Given the description of an element on the screen output the (x, y) to click on. 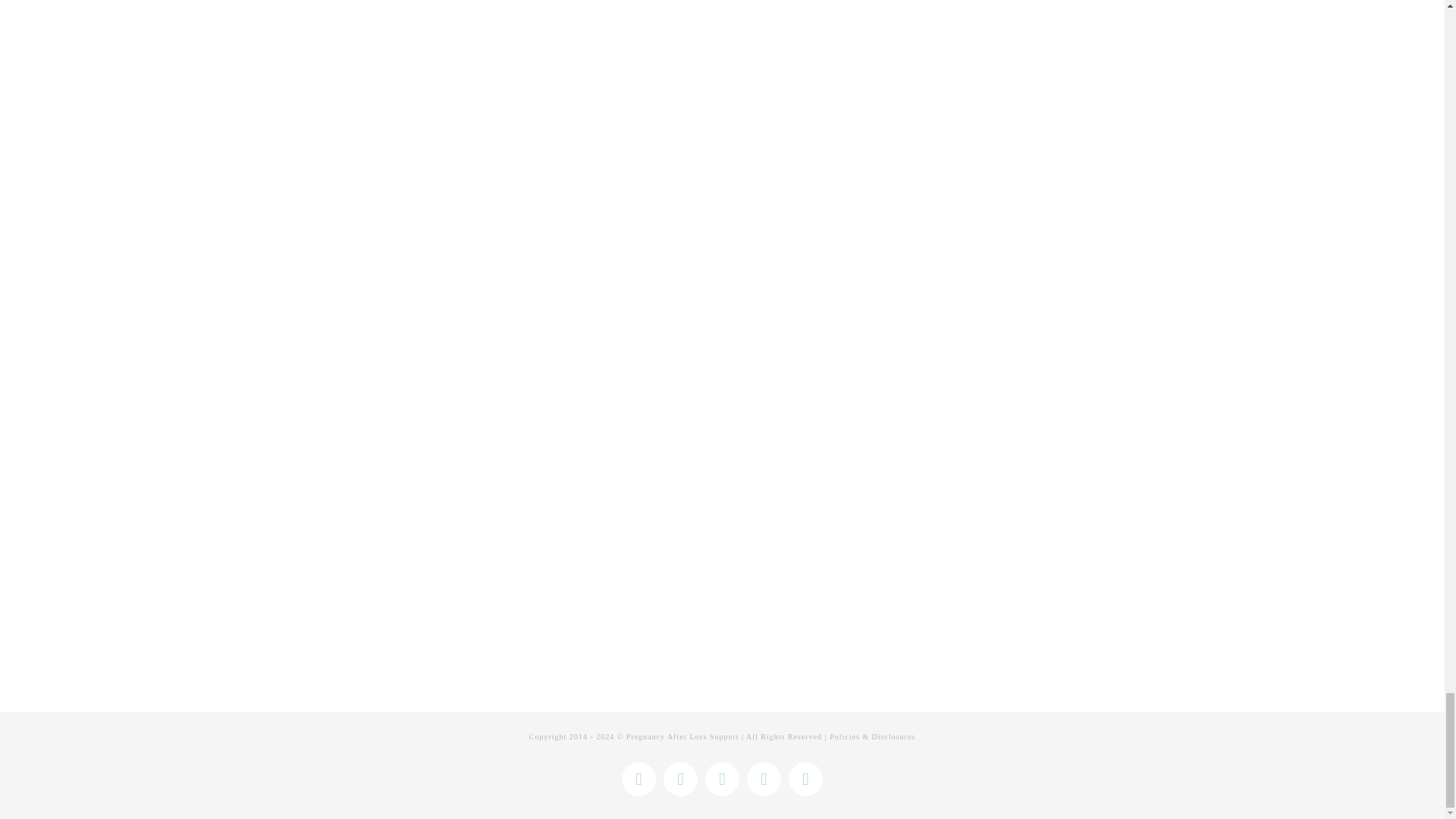
Instagram (680, 779)
Facebook (638, 779)
Pinterest (721, 779)
LinkedIn (763, 779)
Email (805, 779)
